Given the description of an element on the screen output the (x, y) to click on. 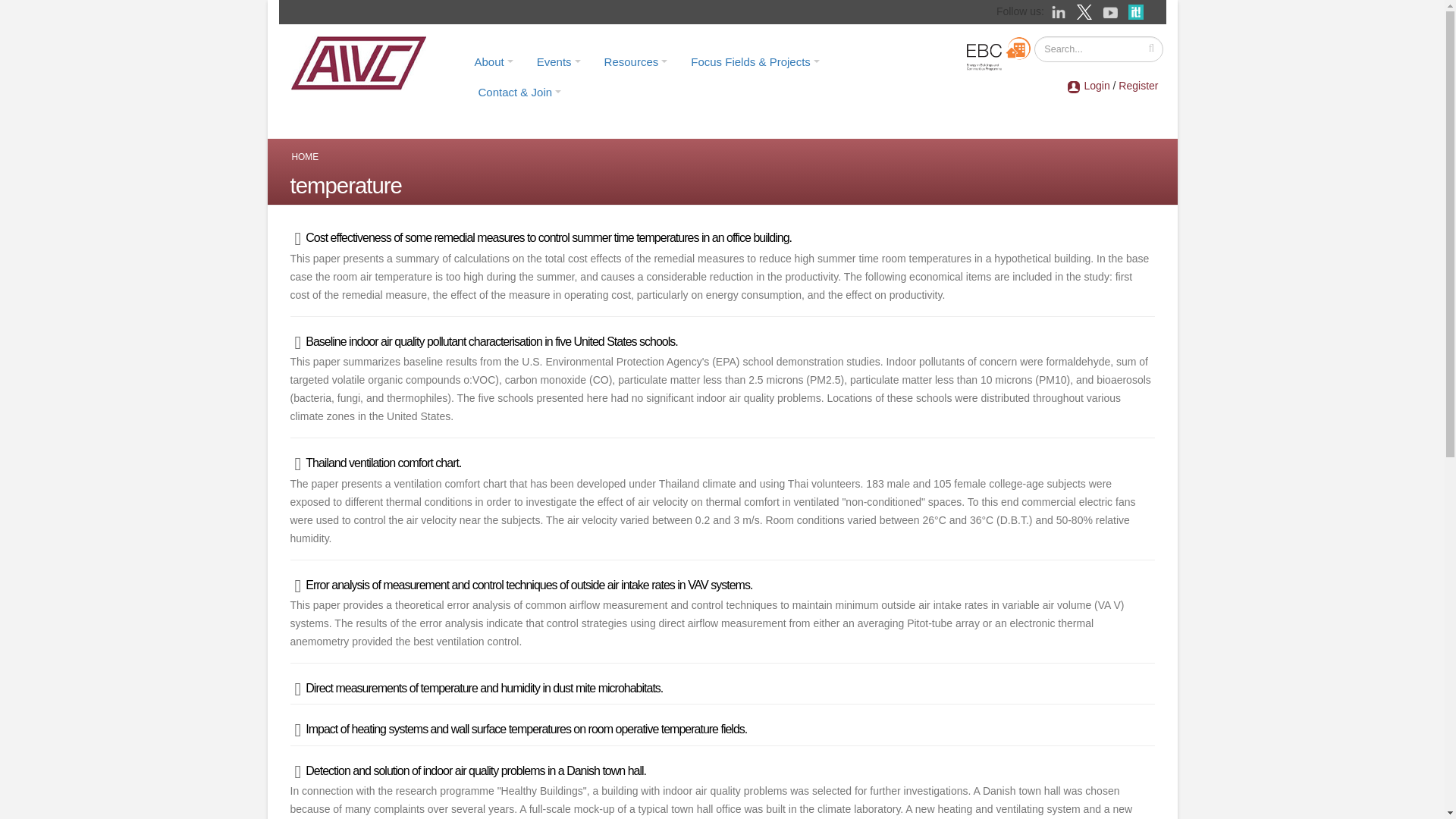
Go to AIVC YouTube page (1111, 10)
About (493, 61)
Resources (636, 61)
About AIVC (493, 61)
Go to INIVE sccop.it page (1139, 10)
Login (1096, 85)
Events (559, 61)
Go to AIVC twitter page (1086, 10)
Go to AIVC LinkedIn page (1059, 10)
Home (362, 61)
